Given the description of an element on the screen output the (x, y) to click on. 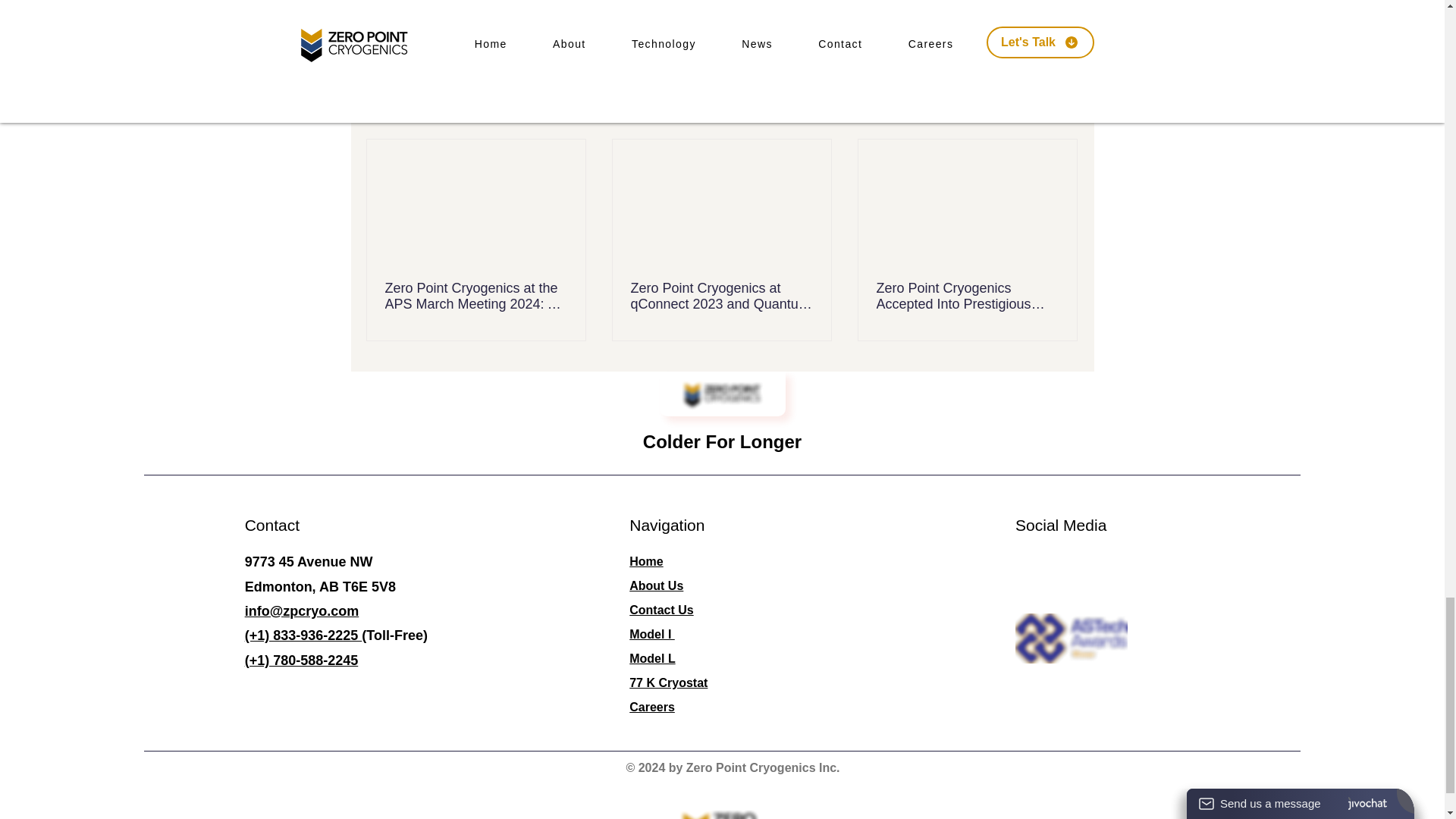
Contact Us (660, 609)
Home (645, 561)
See All (1061, 112)
Latest News (973, 15)
Model I  (651, 634)
About Us (655, 585)
Model L (651, 658)
